Given the description of an element on the screen output the (x, y) to click on. 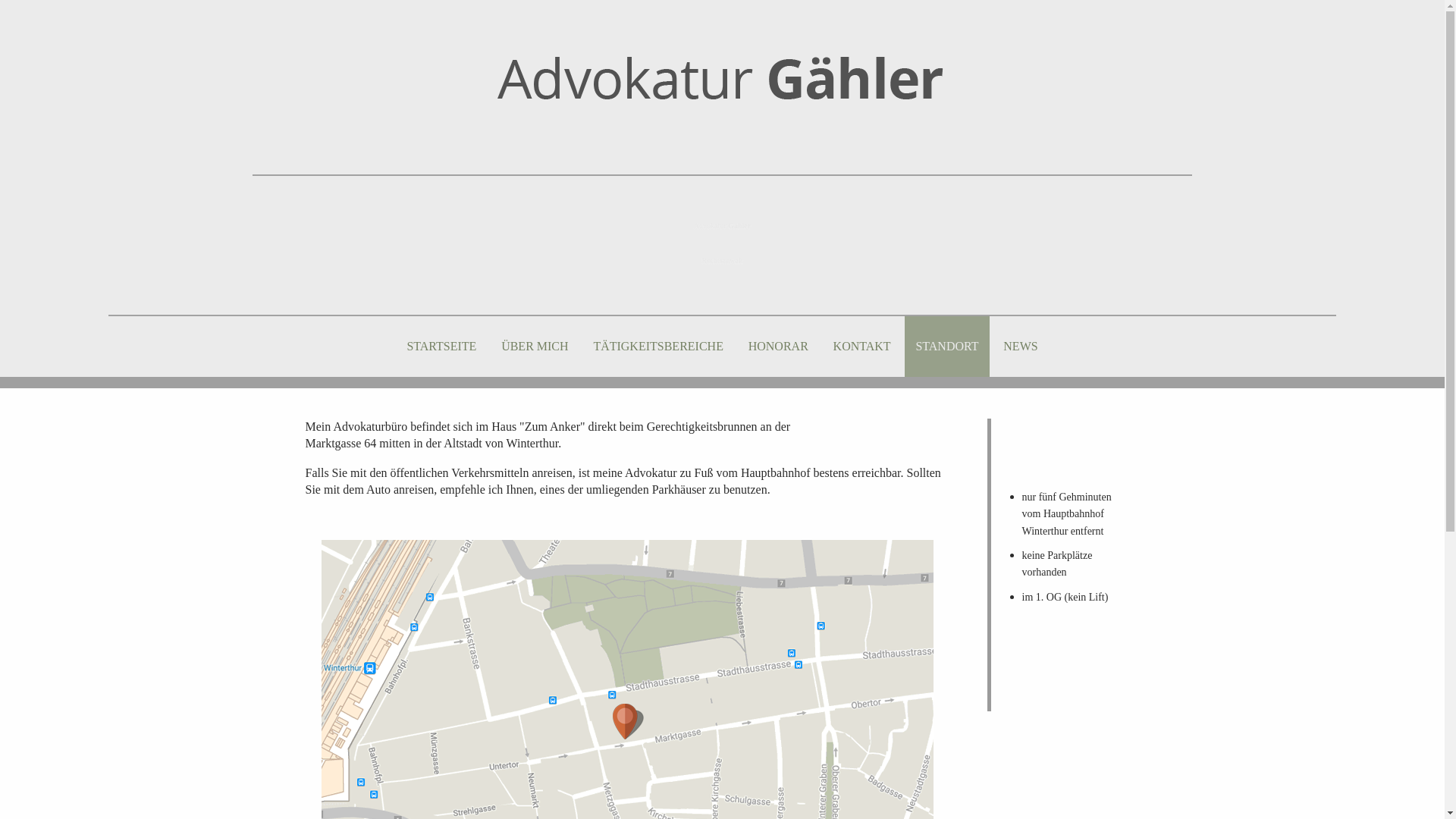
NEWS Element type: text (1020, 346)
KONTAKT Element type: text (861, 346)
HONORAR Element type: text (778, 346)
  Element type: text (722, 75)
STANDORT Element type: text (946, 346)
STARTSEITE Element type: text (441, 346)
